Given the description of an element on the screen output the (x, y) to click on. 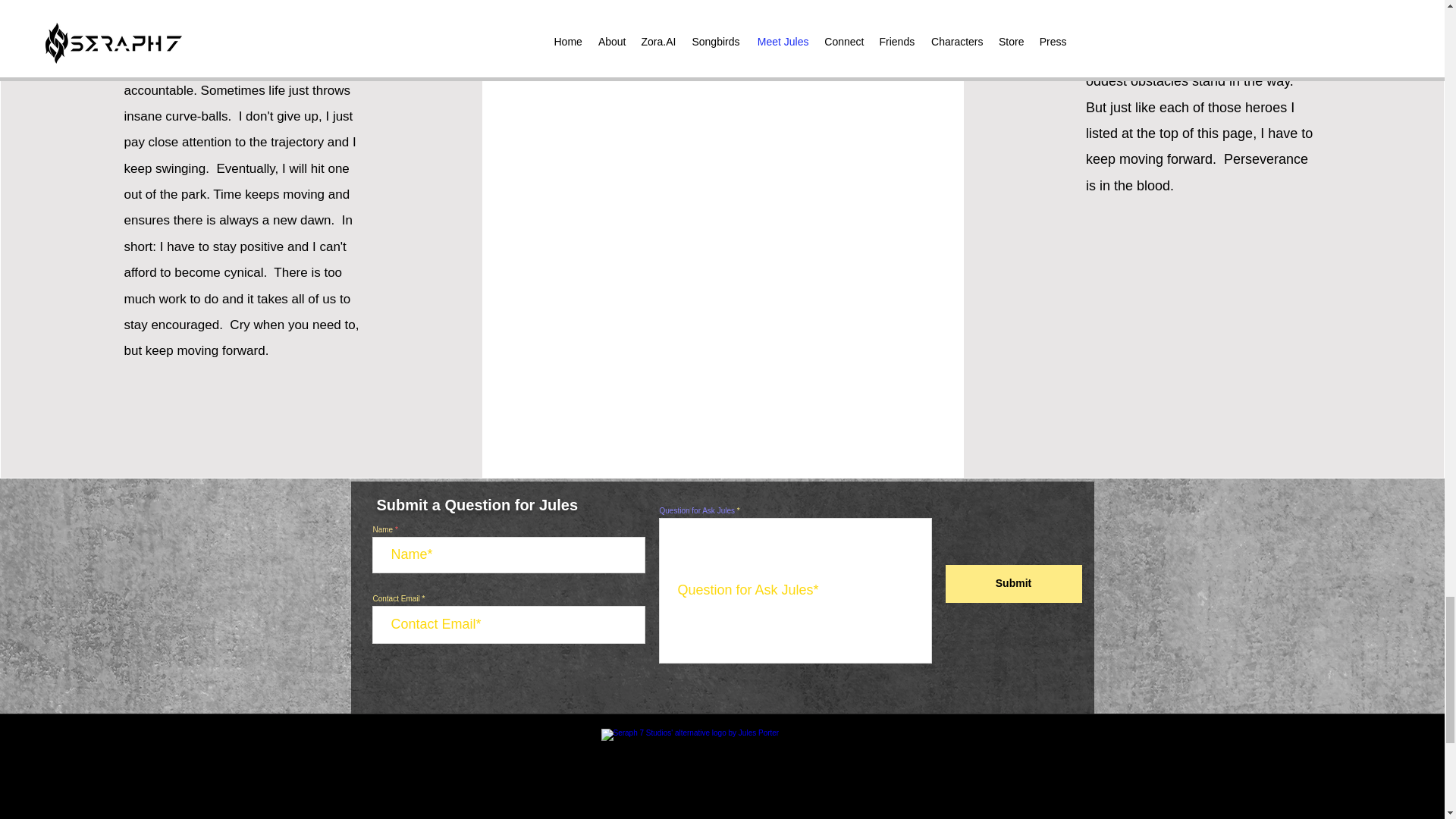
Submit (1012, 583)
Seraph 7 Studios' alternative logo by Jules Porter (724, 773)
